Given the description of an element on the screen output the (x, y) to click on. 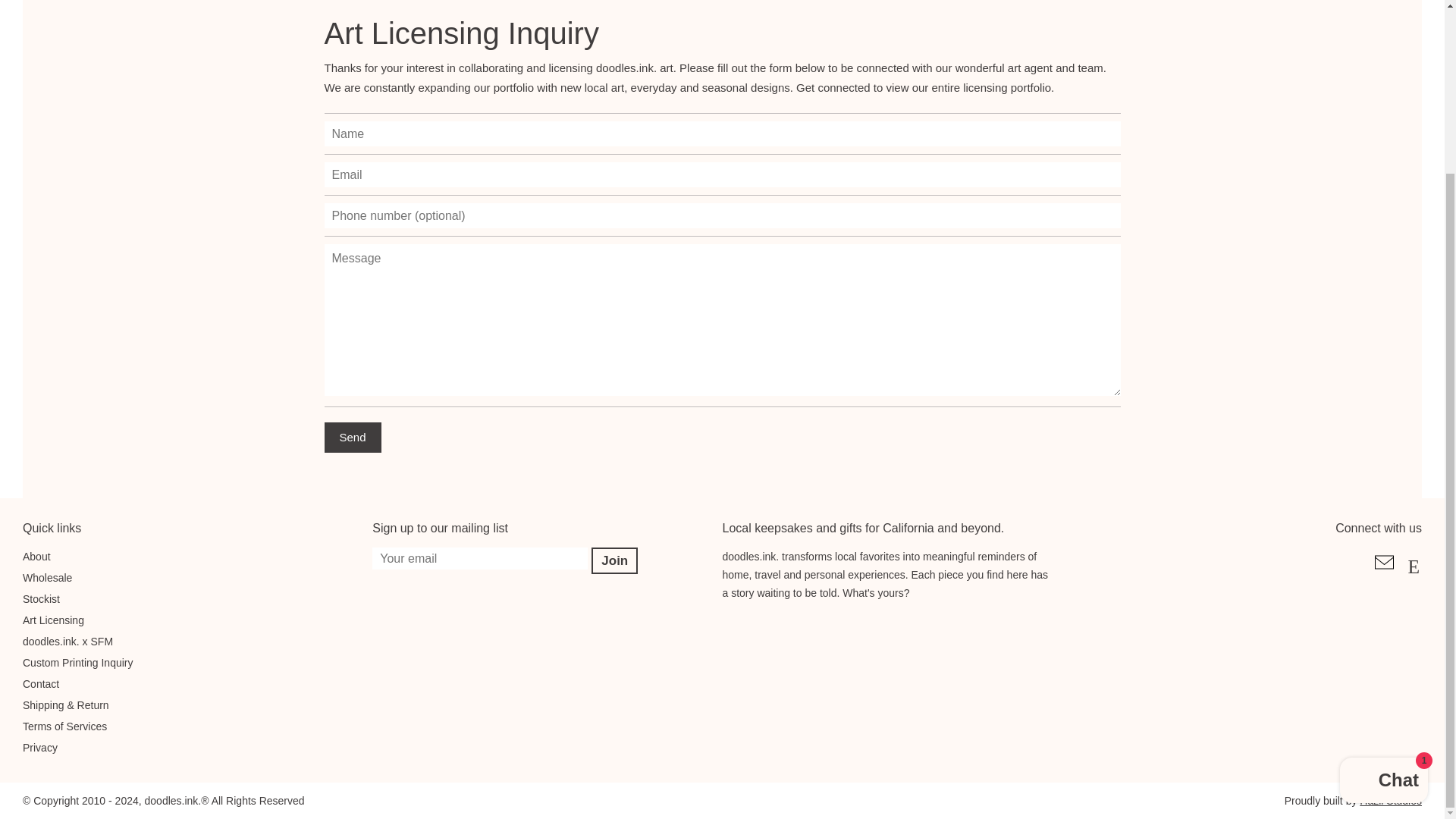
Shopify online store chat (1383, 572)
doodles.ink. on Instagram (1414, 573)
Join (614, 560)
